Given the description of an element on the screen output the (x, y) to click on. 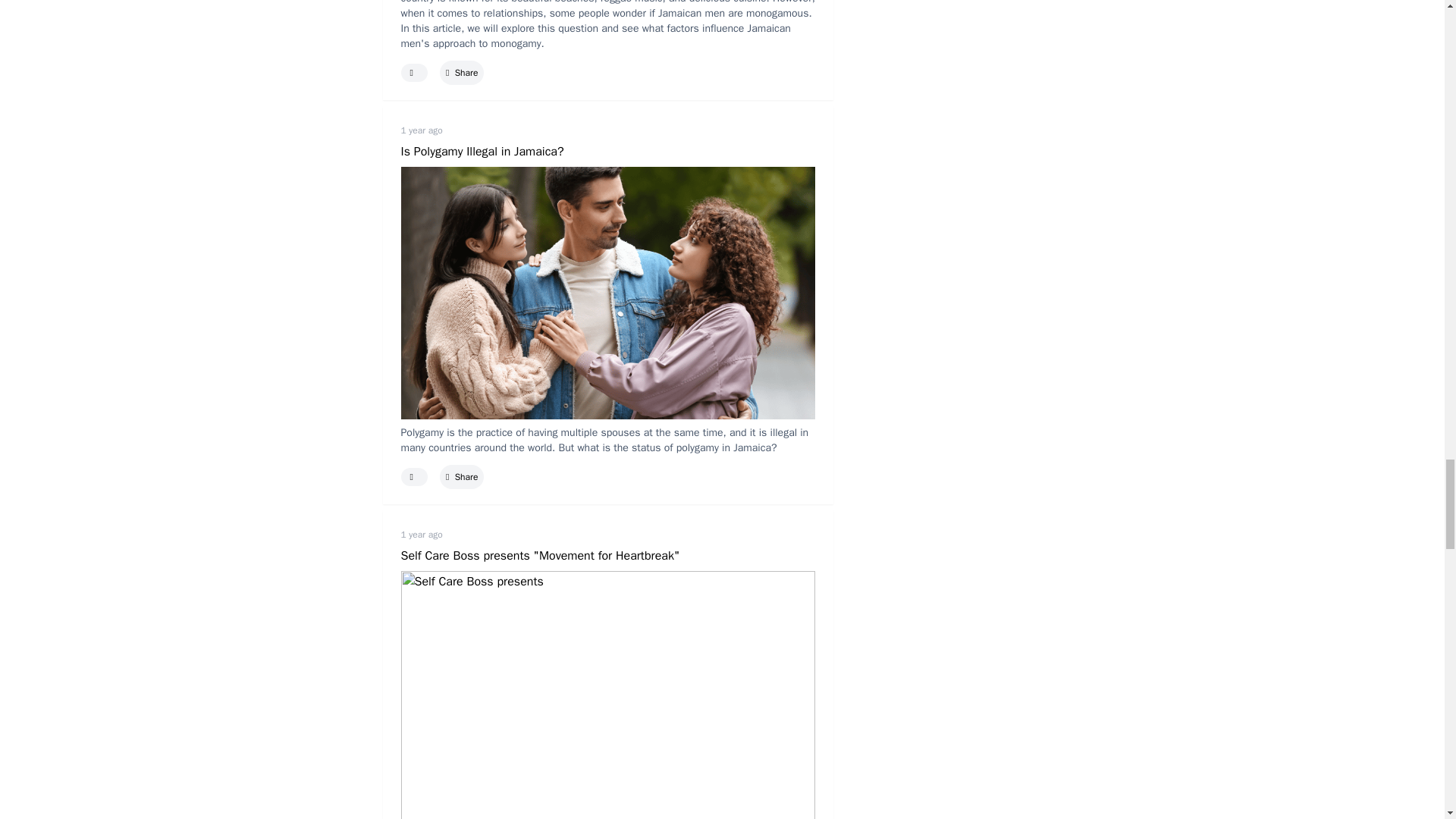
Share (461, 476)
 Share (461, 476)
Like (414, 476)
Like (414, 72)
Self Care Boss presents "Movement for Heartbreak" (607, 683)
Share (461, 72)
 Share (461, 72)
